Given the description of an element on the screen output the (x, y) to click on. 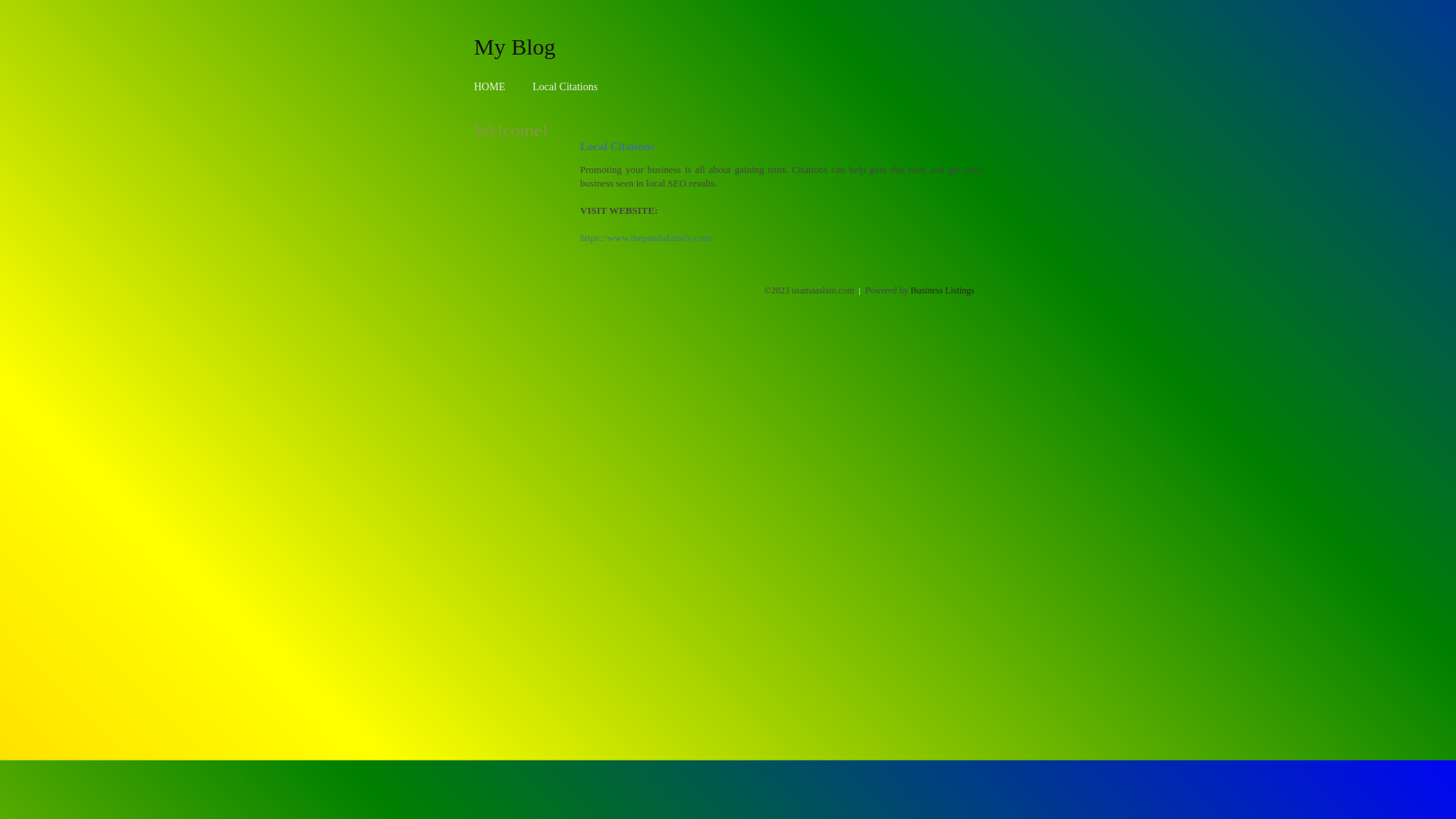
https://www.thepandafamily.com/ Element type: text (646, 237)
HOME Element type: text (489, 86)
Local Citations Element type: text (564, 86)
My Blog Element type: text (514, 46)
Business Listings Element type: text (942, 290)
